Given the description of an element on the screen output the (x, y) to click on. 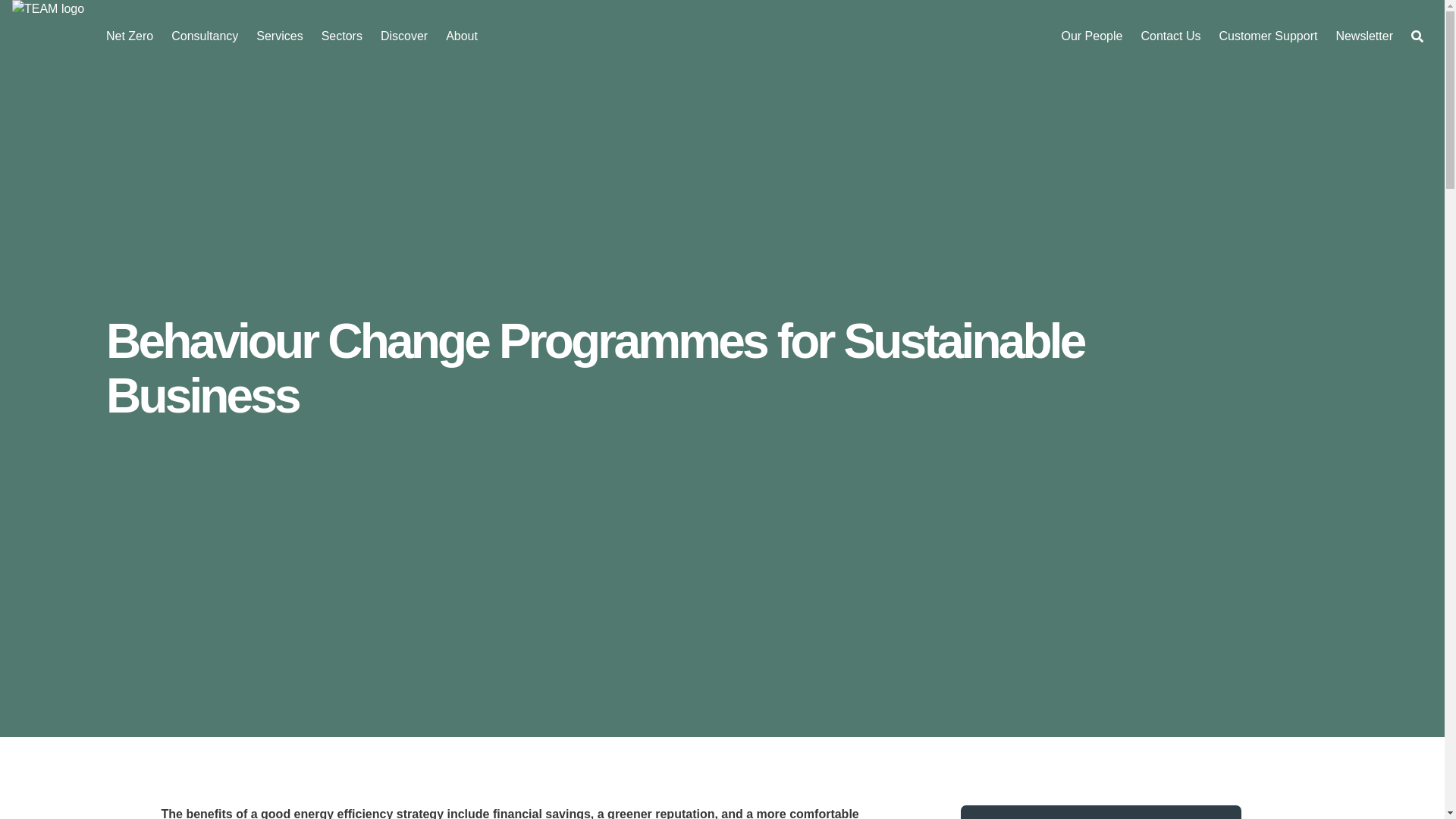
Our People (1091, 36)
Contact Us (1170, 36)
Net Zero (129, 36)
Customer Support (1267, 36)
Consultancy (204, 36)
Newsletter (1364, 36)
